Given the description of an element on the screen output the (x, y) to click on. 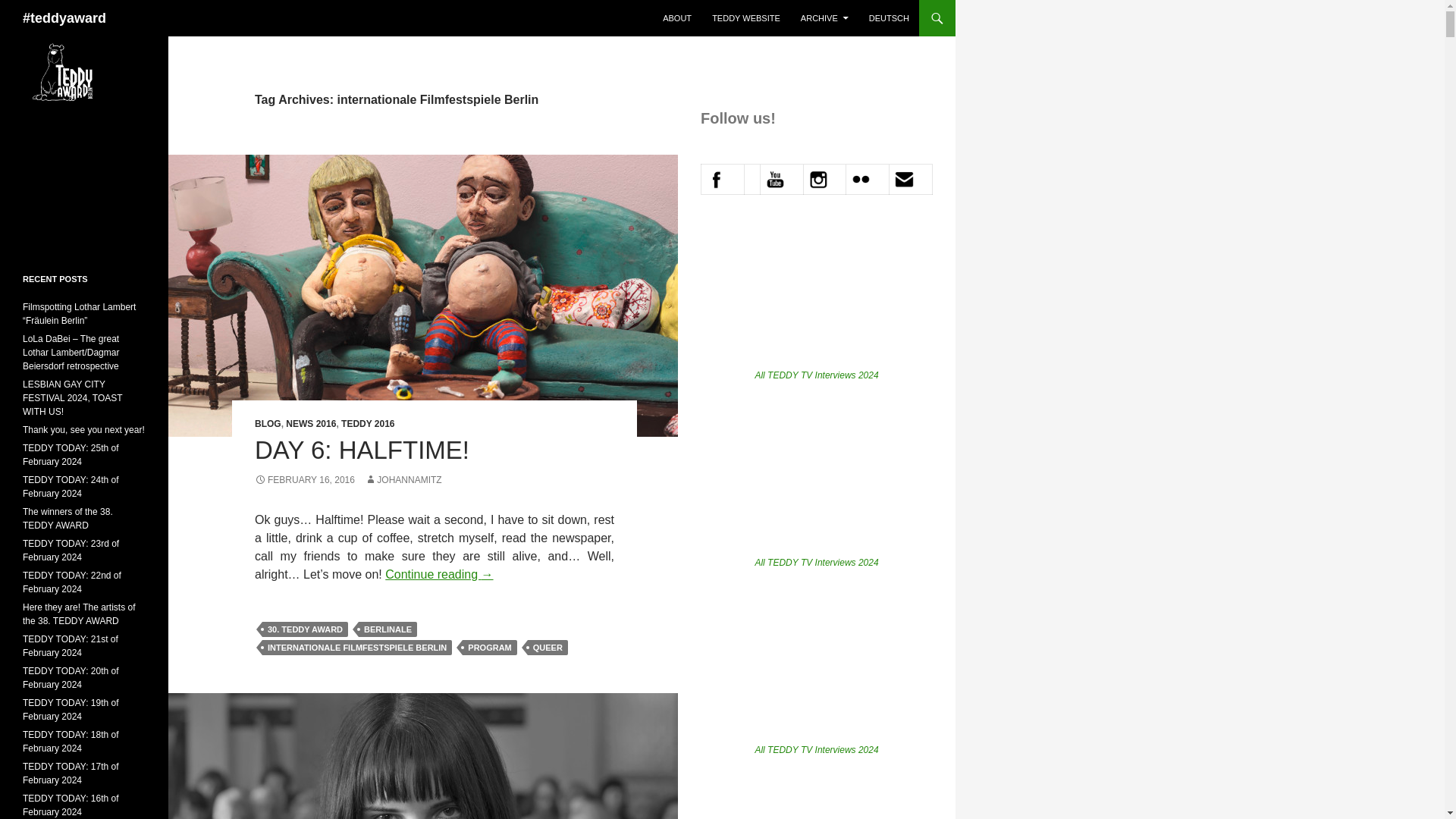
DAY 6: HALFTIME! (361, 449)
BERLINALE (387, 629)
DEUTSCH (889, 18)
JOHANNAMITZ (403, 480)
NEWS 2016 (310, 423)
INTERNATIONALE FILMFESTSPIELE BERLIN (356, 647)
TEDDY WEBSITE (746, 18)
TEDDY 2016 (367, 423)
30. TEDDY AWARD (304, 629)
BLOG (267, 423)
FEBRUARY 16, 2016 (304, 480)
Interview with Ray Yeung, director of "ALL SHALL BE WELL" (816, 295)
ABOUT (676, 18)
ARCHIVE (824, 18)
